Given the description of an element on the screen output the (x, y) to click on. 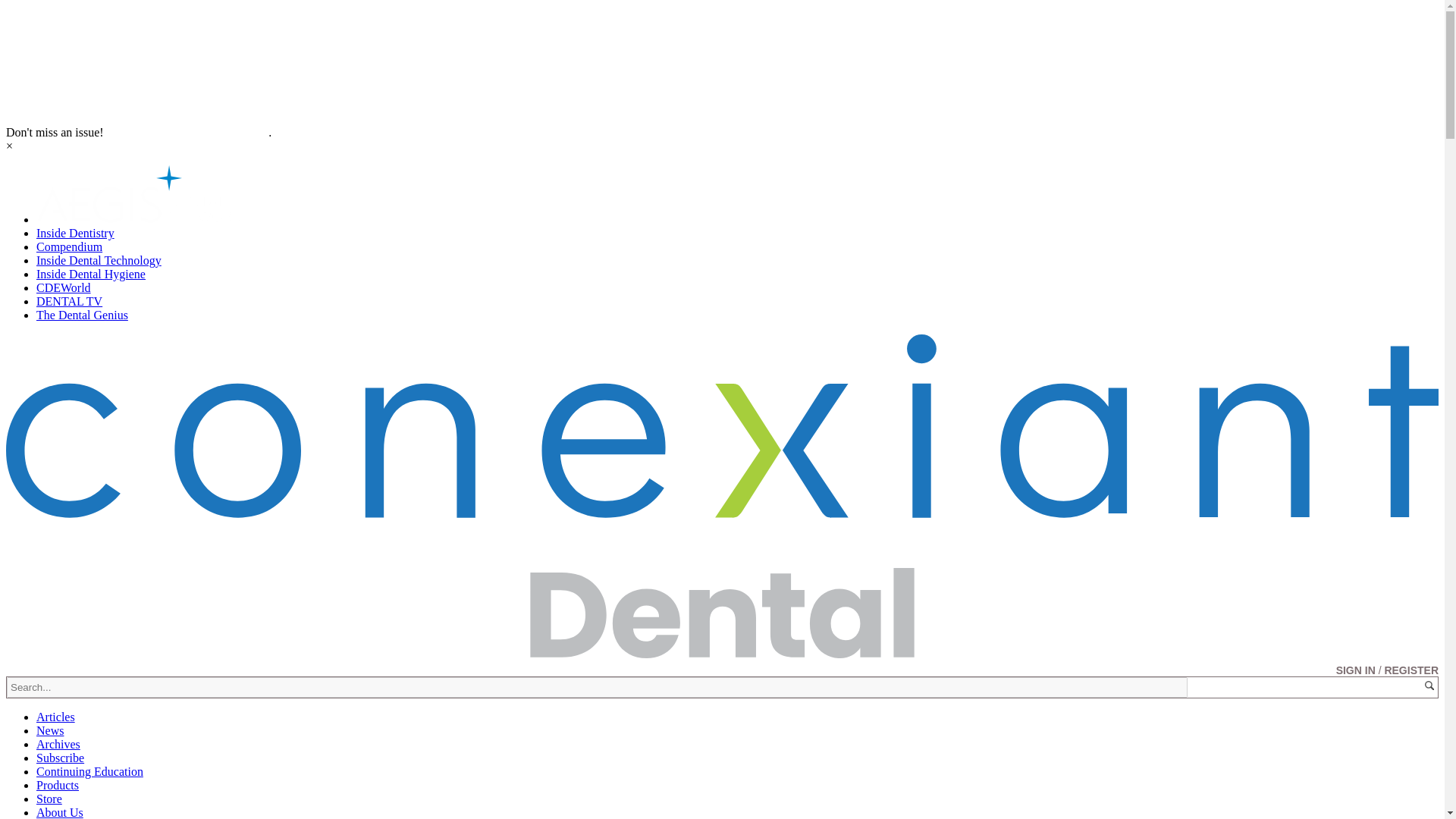
Inside Dentistry (75, 232)
Inside Dental Technology (98, 259)
Compendium (68, 246)
Inside Dental Hygiene (90, 273)
CDEWorld (63, 287)
